Given the description of an element on the screen output the (x, y) to click on. 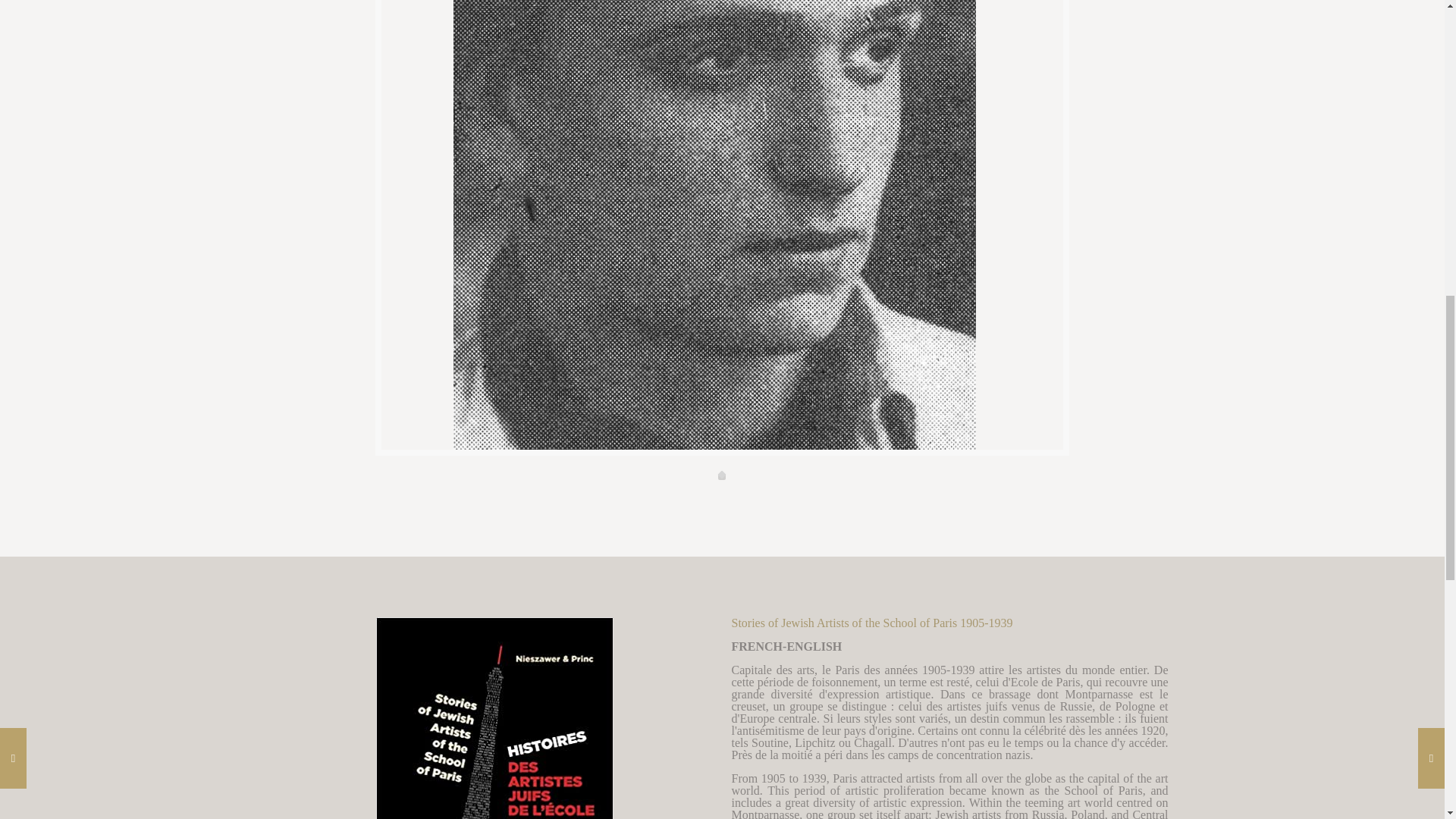
0 (721, 476)
